Given the description of an element on the screen output the (x, y) to click on. 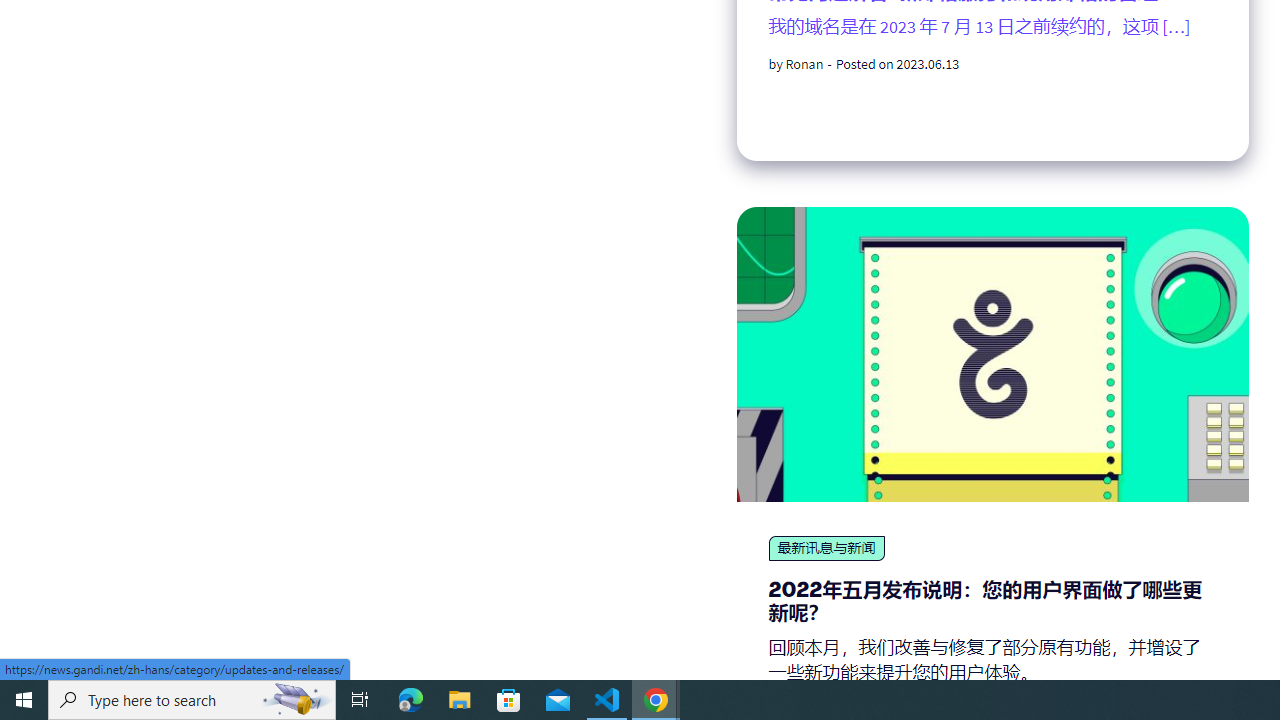
Ronan (804, 64)
